Given the description of an element on the screen output the (x, y) to click on. 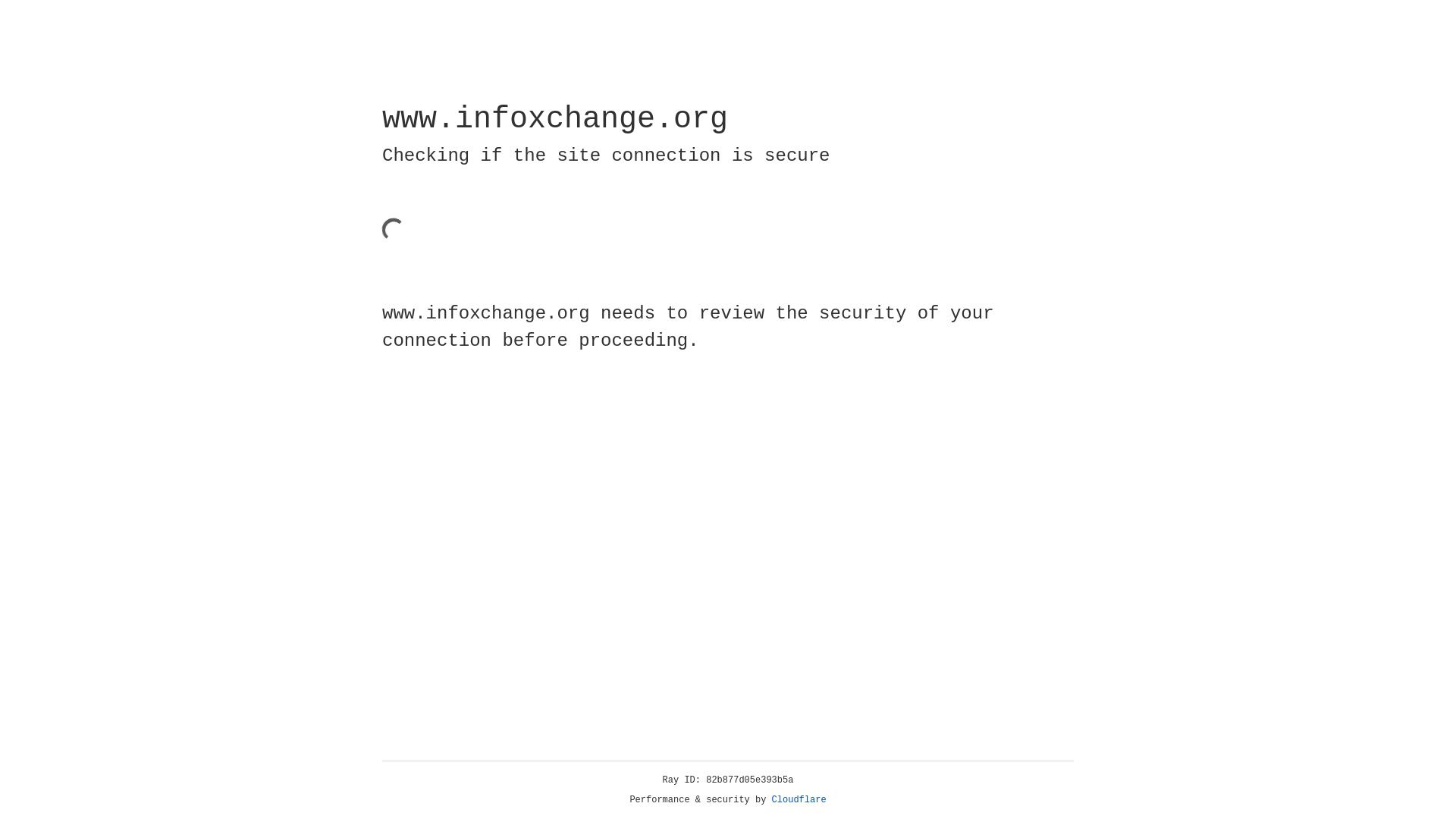
Cloudflare Element type: text (798, 799)
